Given the description of an element on the screen output the (x, y) to click on. 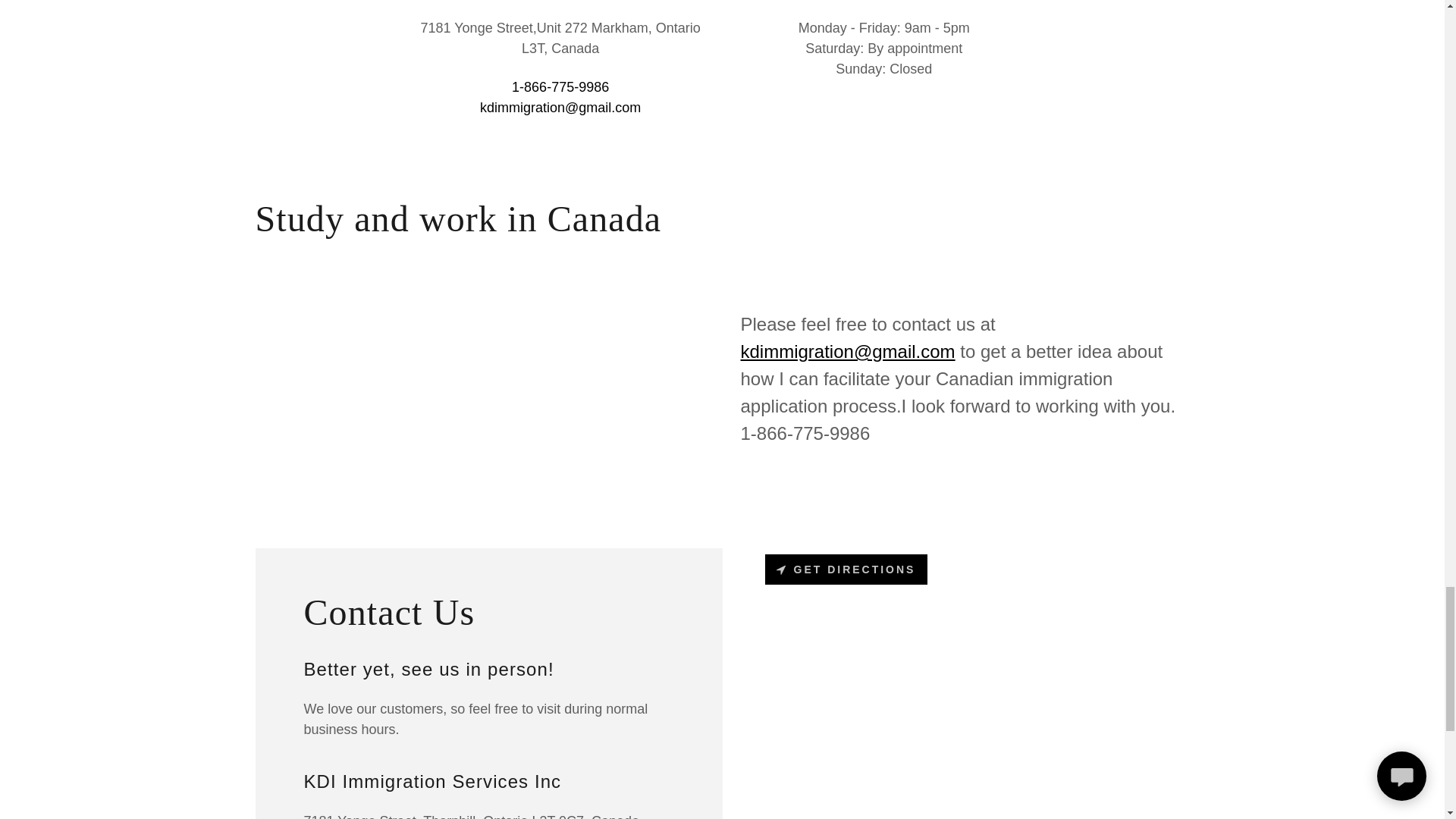
GET DIRECTIONS (845, 569)
1-866-775-9986 (560, 87)
